Given the description of an element on the screen output the (x, y) to click on. 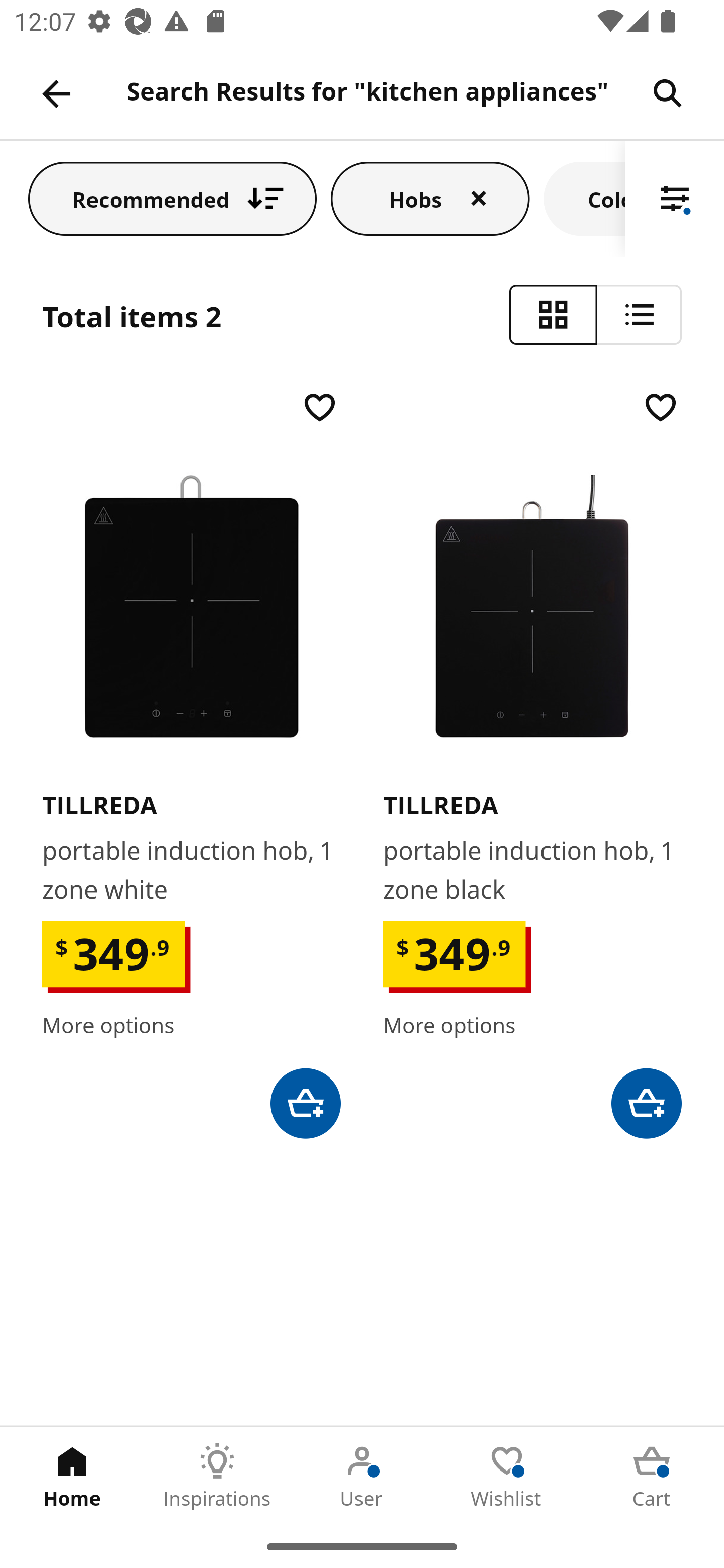
Recommended (172, 198)
Hobs (429, 198)
Home
Tab 1 of 5 (72, 1476)
Inspirations
Tab 2 of 5 (216, 1476)
User
Tab 3 of 5 (361, 1476)
Wishlist
Tab 4 of 5 (506, 1476)
Cart
Tab 5 of 5 (651, 1476)
